Given the description of an element on the screen output the (x, y) to click on. 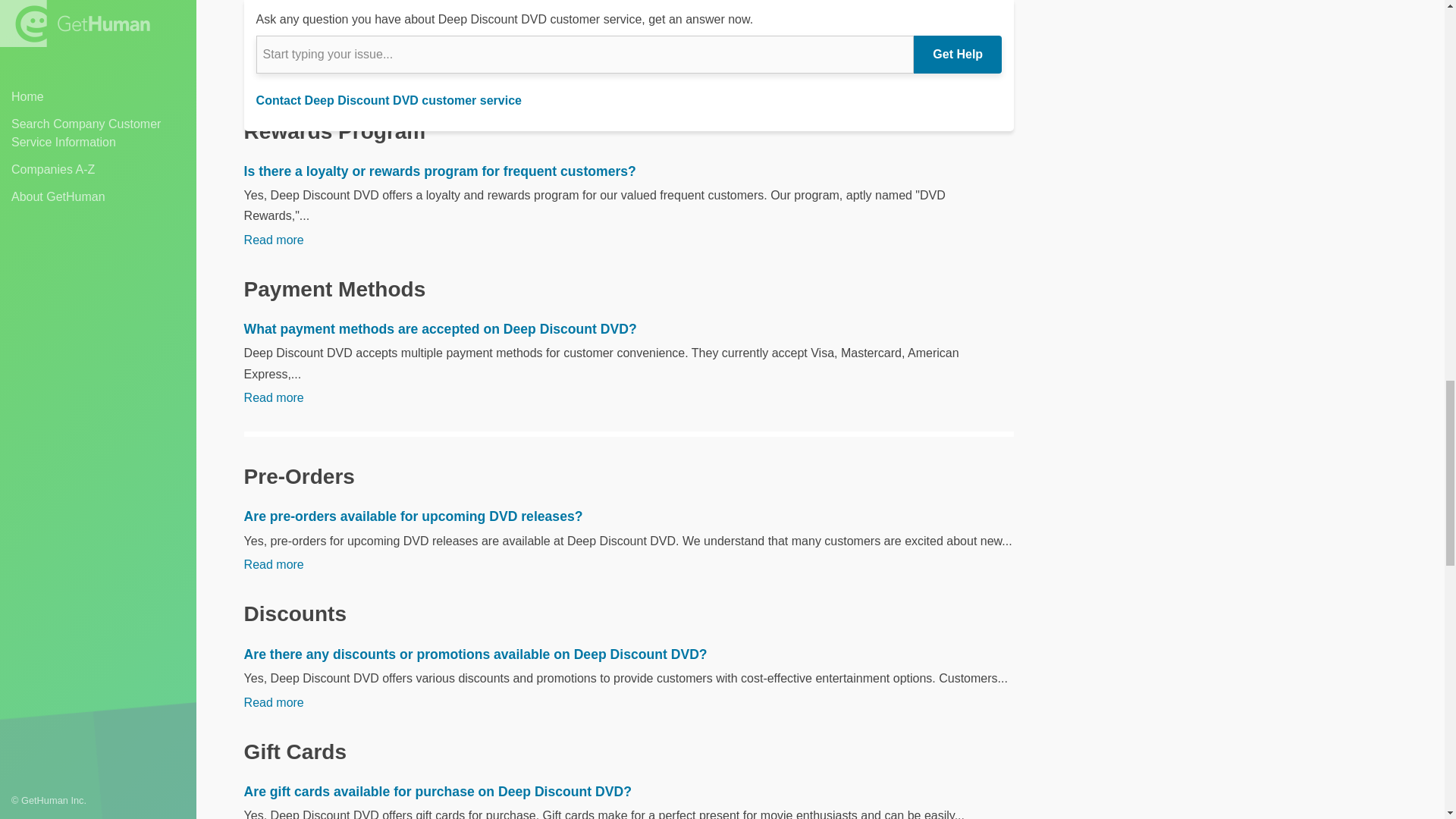
Read more (274, 239)
